Given the description of an element on the screen output the (x, y) to click on. 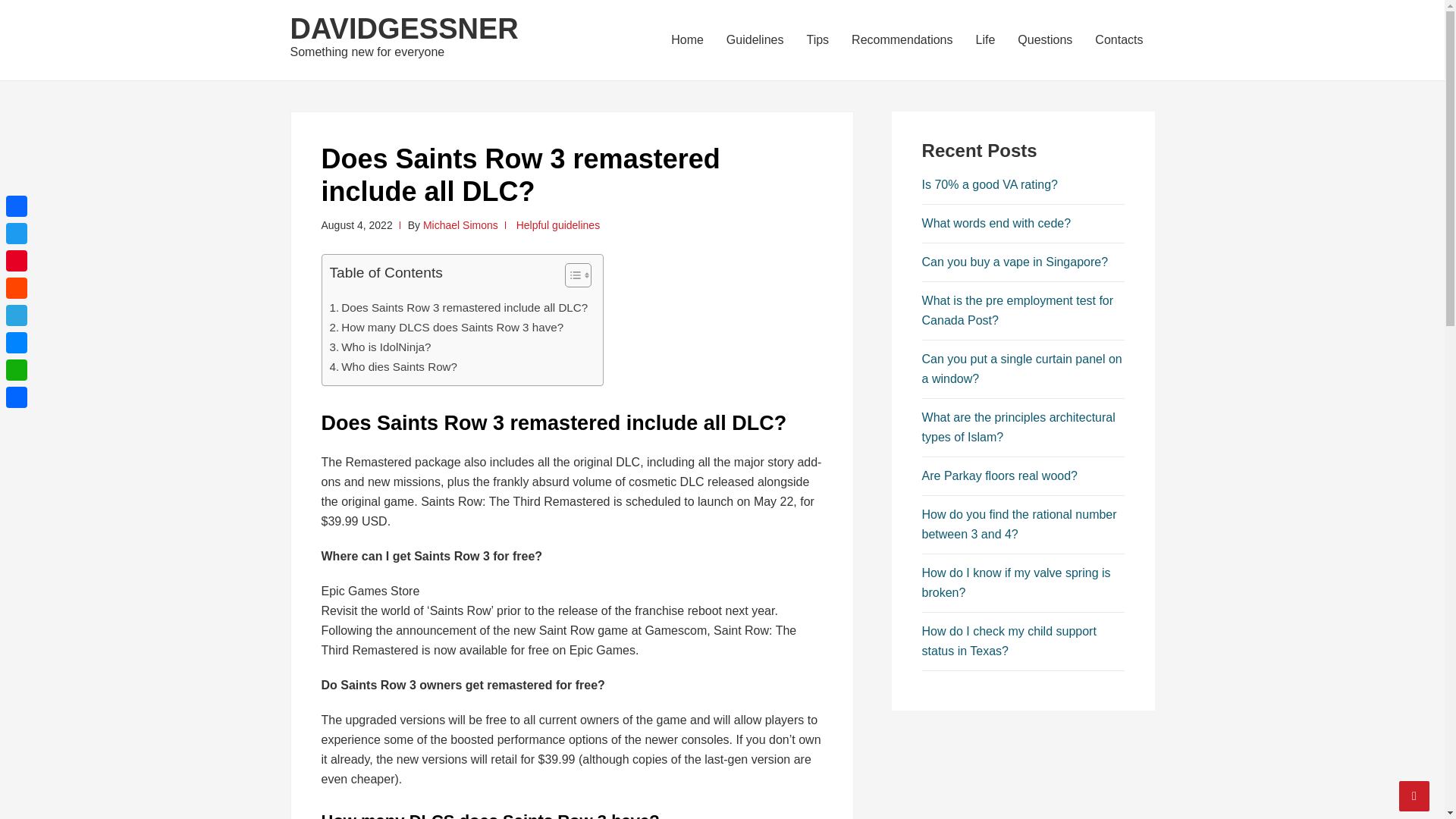
Who is IdolNinja? (379, 347)
Who dies Saints Row? (393, 366)
Telegram (16, 315)
Recommendations (901, 39)
Does Saints Row 3 remastered include all DLC? (458, 307)
Contacts (1118, 39)
Reddit (16, 288)
Who dies Saints Row? (393, 366)
How do you find the rational number between 3 and 4? (1018, 523)
Guidelines (754, 39)
Pinterest (16, 260)
Are Parkay floors real wood? (999, 475)
How do I know if my valve spring is broken? (1015, 582)
Home (686, 39)
Can you put a single curtain panel on a window? (1021, 368)
